Given the description of an element on the screen output the (x, y) to click on. 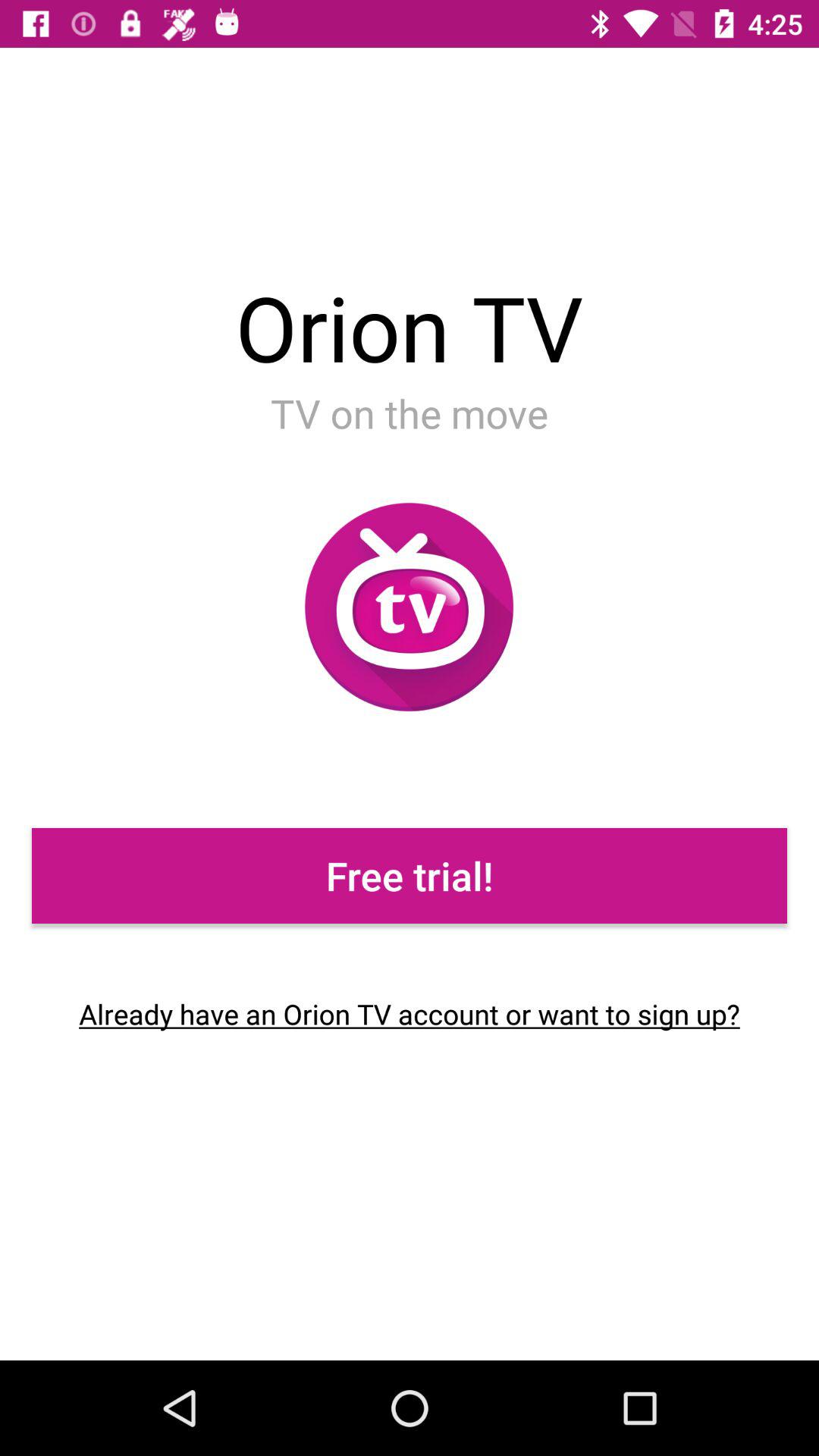
open item below free trial! icon (409, 1013)
